Given the description of an element on the screen output the (x, y) to click on. 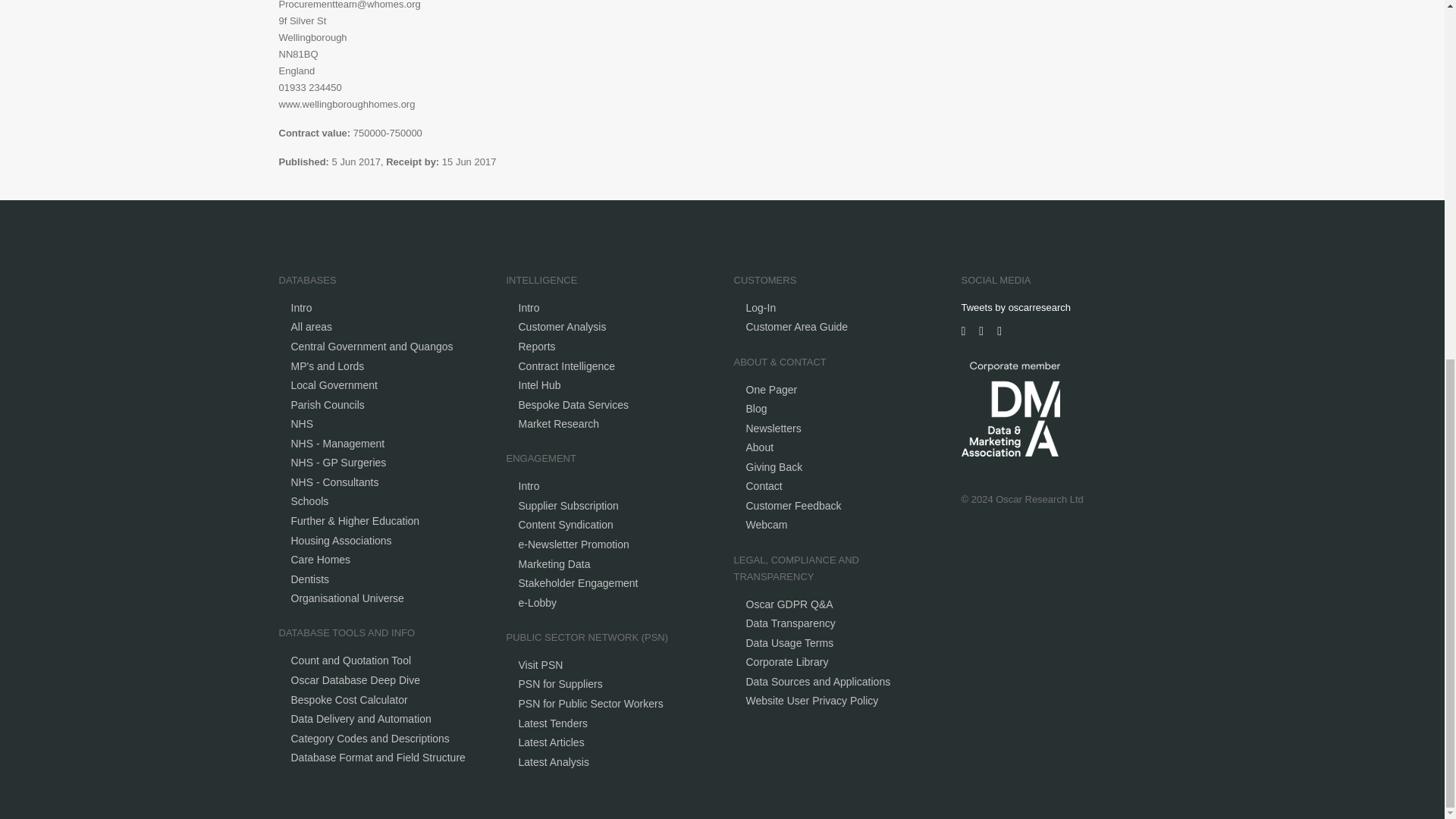
Central Government and Quangos (371, 346)
NHS - Consultants (334, 481)
Intro (302, 307)
MP's and Lords (328, 366)
Local Government (334, 385)
NHS - Management (338, 443)
NHS - GP Surgeries (339, 462)
Parish Councils (328, 404)
NHS (302, 423)
All areas (311, 326)
